Given the description of an element on the screen output the (x, y) to click on. 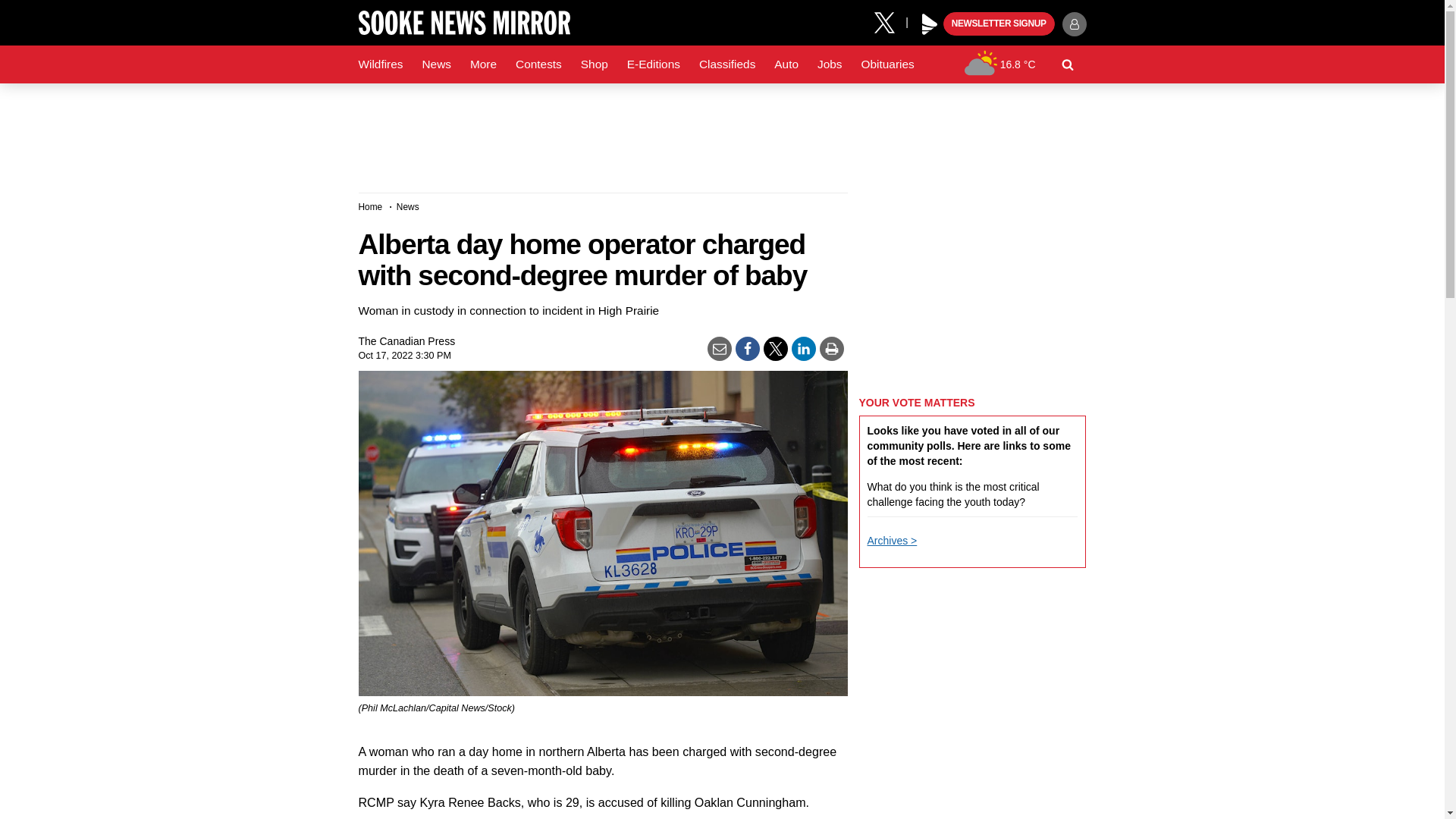
Wildfires (380, 64)
Black Press Media (929, 24)
X (889, 21)
Play (929, 24)
News (435, 64)
NEWSLETTER SIGNUP (998, 24)
